Given the description of an element on the screen output the (x, y) to click on. 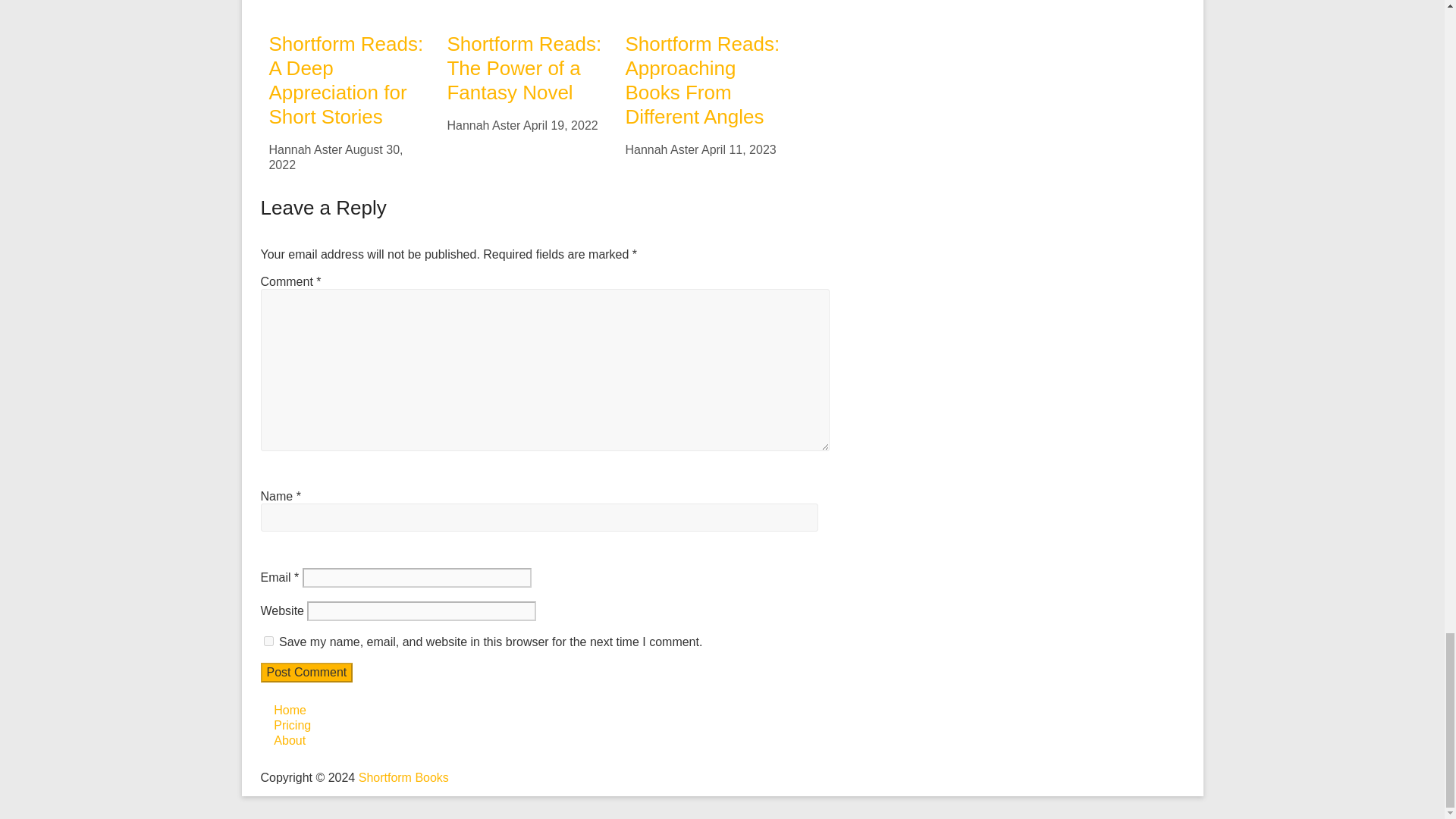
yes (268, 641)
Hannah Aster (482, 124)
Post Comment (306, 672)
April 19, 2022 (560, 124)
Shortform Reads: The Power of a Fantasy Novel (523, 68)
Shortform Reads: A Deep Appreciation for Short Stories (345, 79)
Hannah Aster (304, 149)
August 30, 2022 (335, 157)
